Given the description of an element on the screen output the (x, y) to click on. 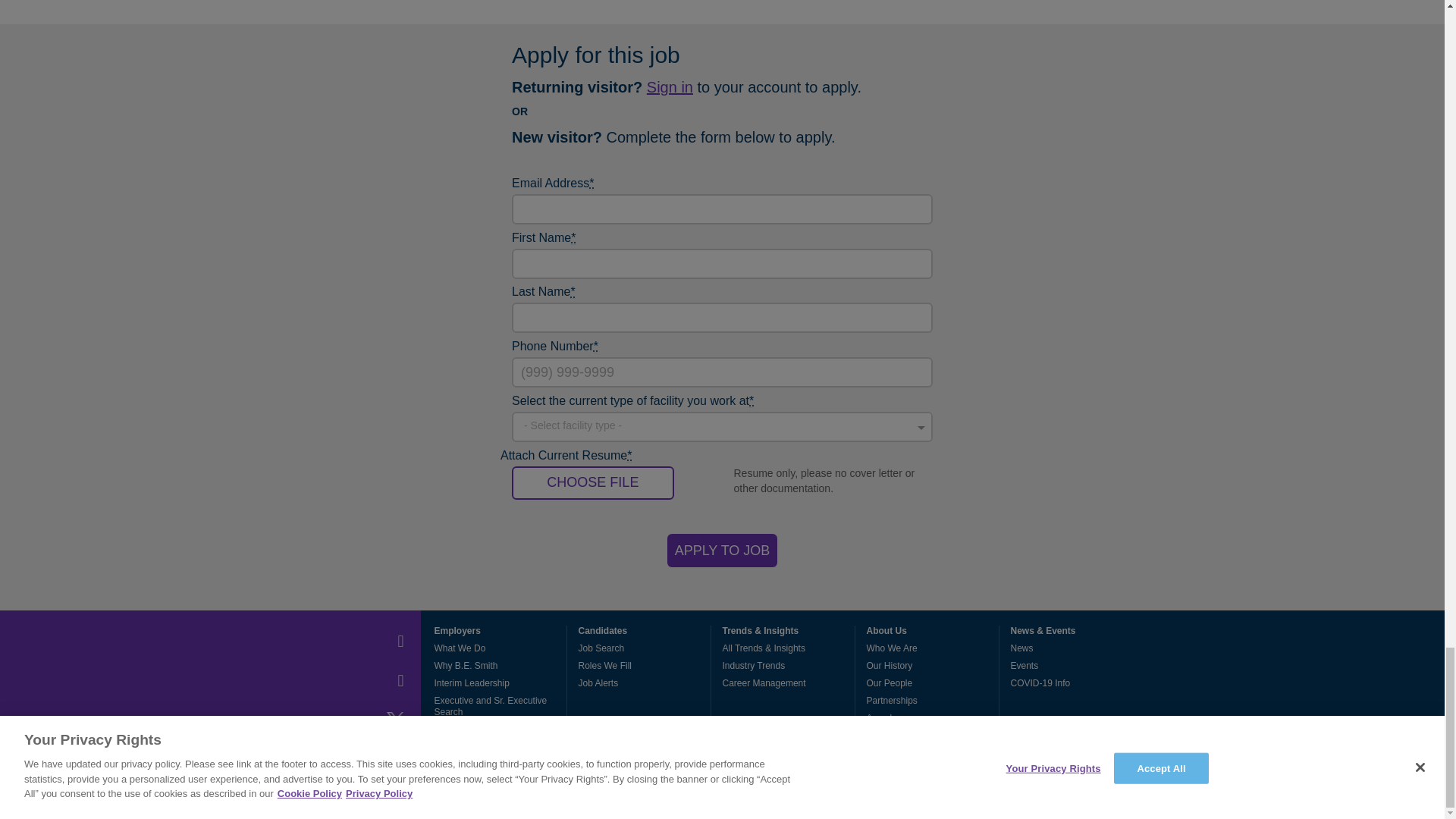
Apply to Job (721, 550)
